Given the description of an element on the screen output the (x, y) to click on. 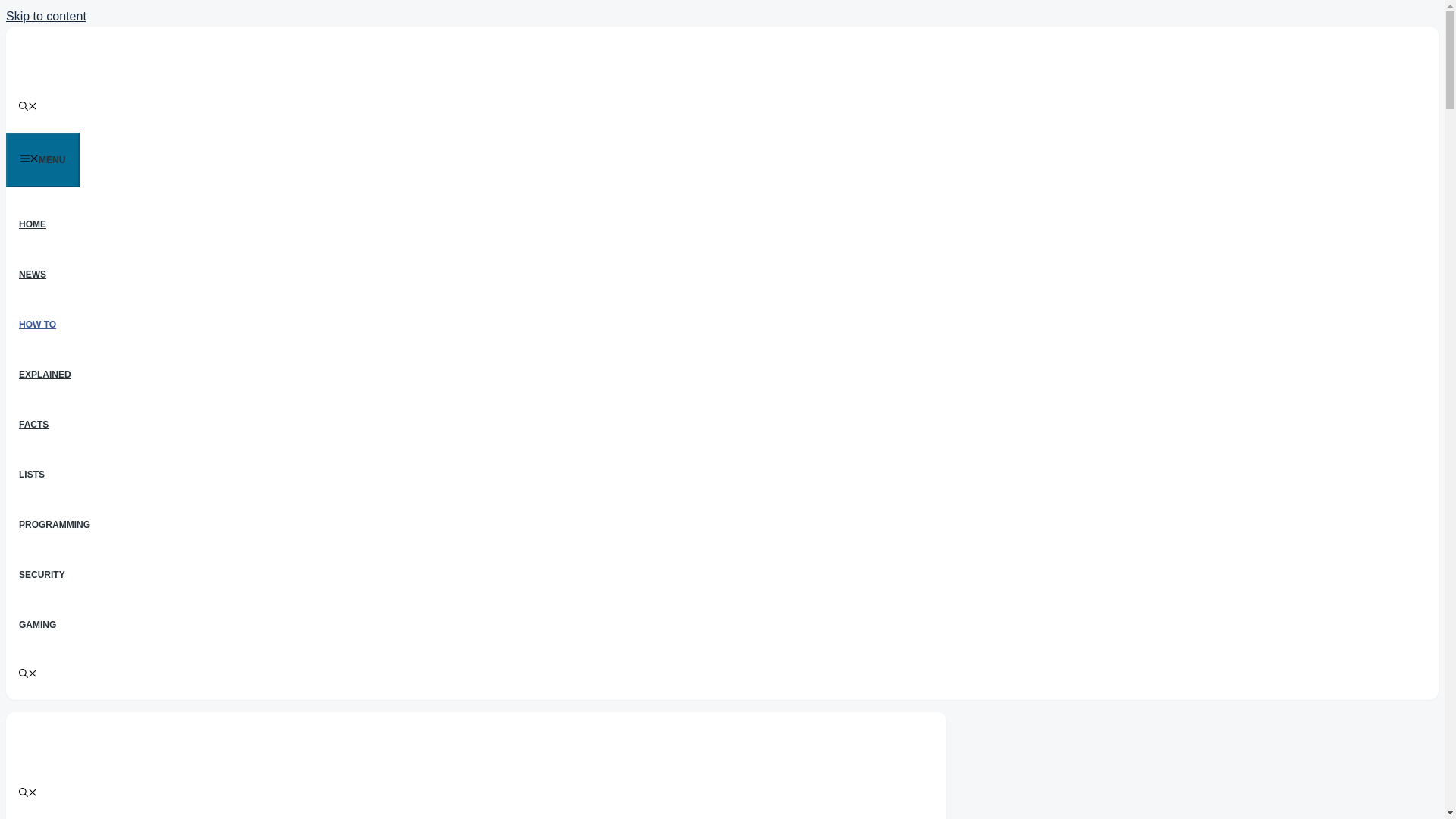
FACTS (33, 424)
GAMING (36, 624)
HOME (32, 224)
Skip to content (45, 15)
NEWS (32, 274)
Technotification (132, 72)
LISTS (31, 474)
EXPLAINED (44, 374)
MENU (42, 159)
HOW TO (36, 324)
